Given the description of an element on the screen output the (x, y) to click on. 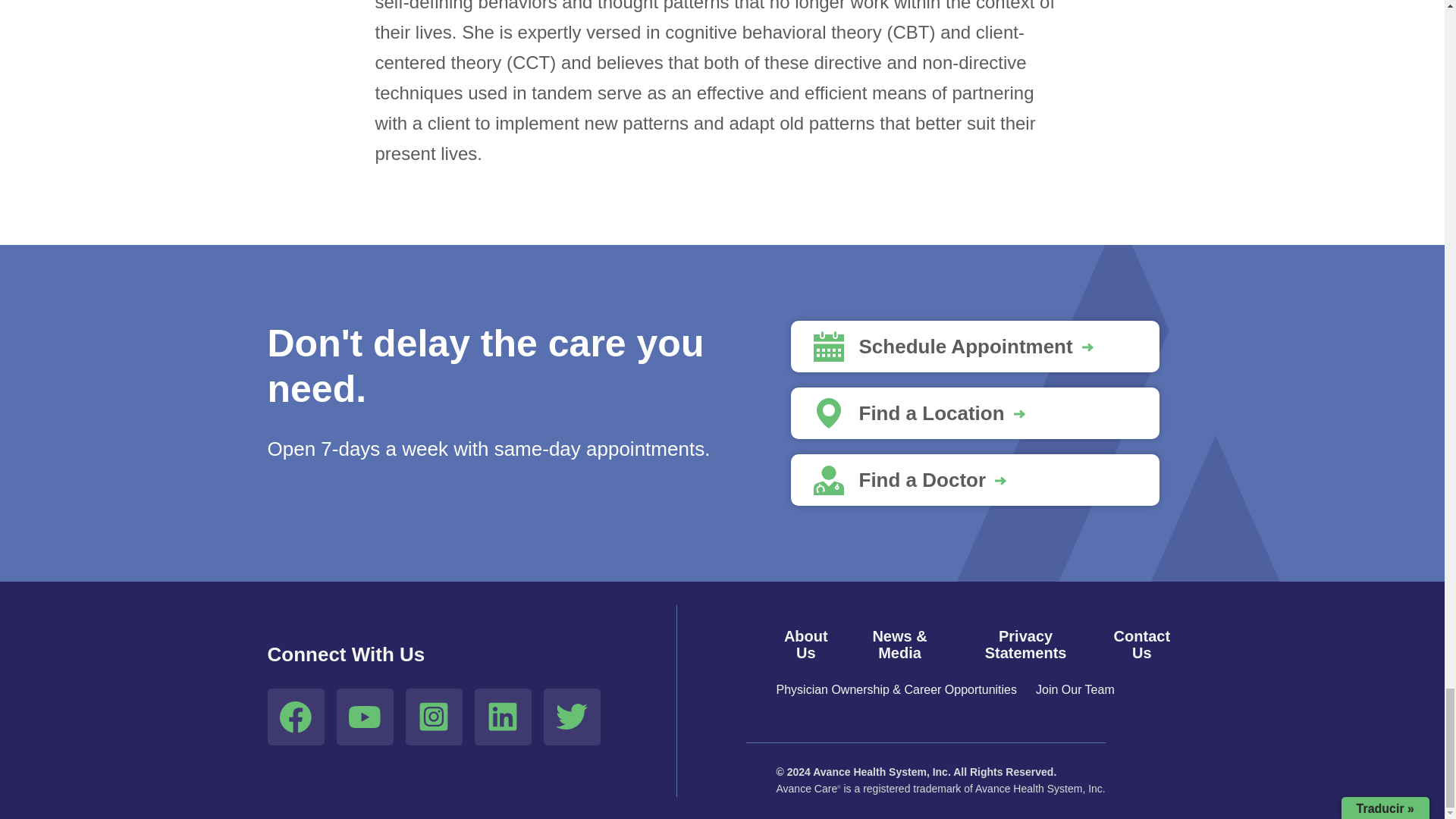
Find a Location (974, 412)
Find a Doctor (974, 480)
Schedule Appointment (974, 346)
